Given the description of an element on the screen output the (x, y) to click on. 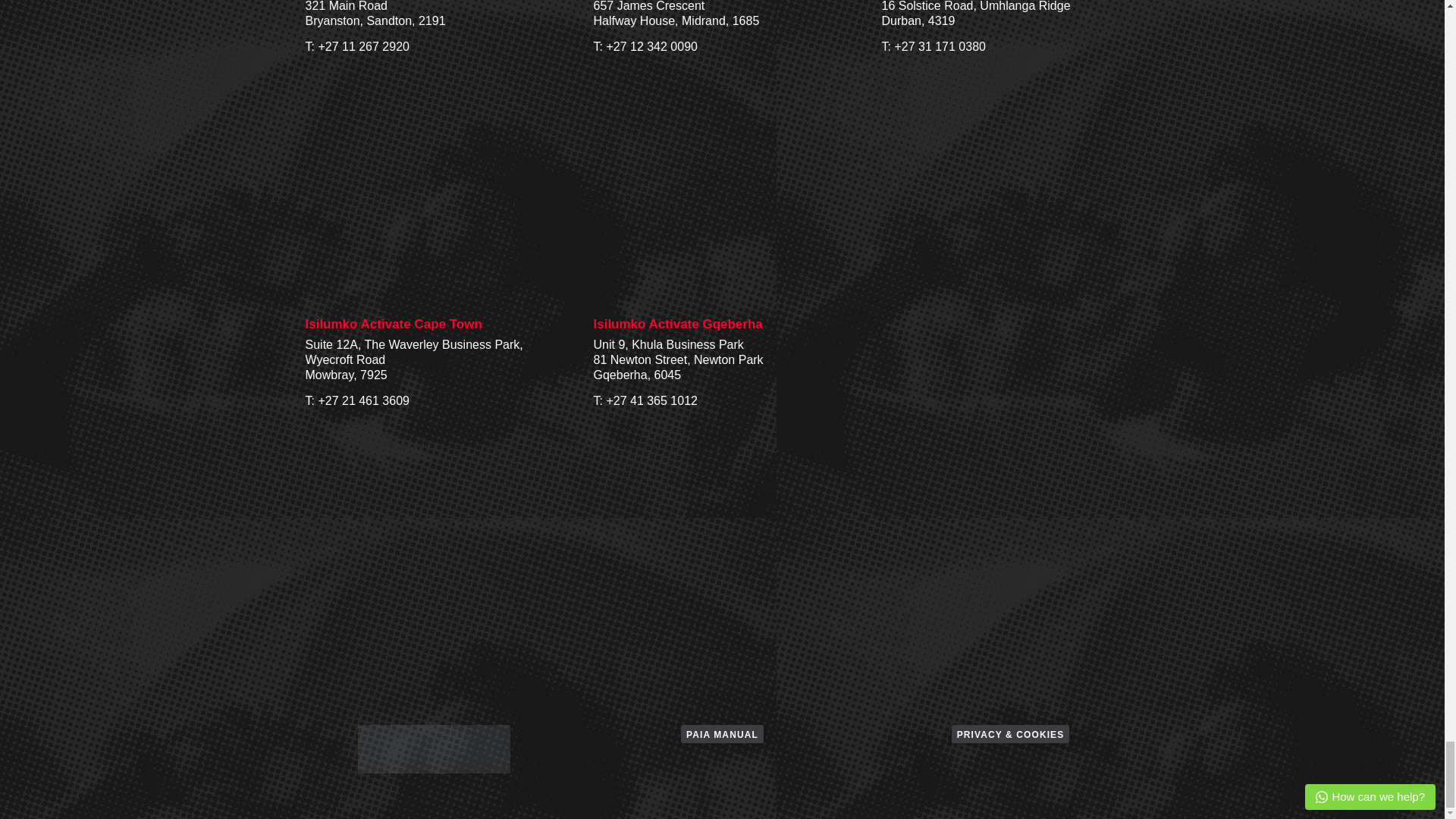
PAIA MANUAL (721, 733)
